Given the description of an element on the screen output the (x, y) to click on. 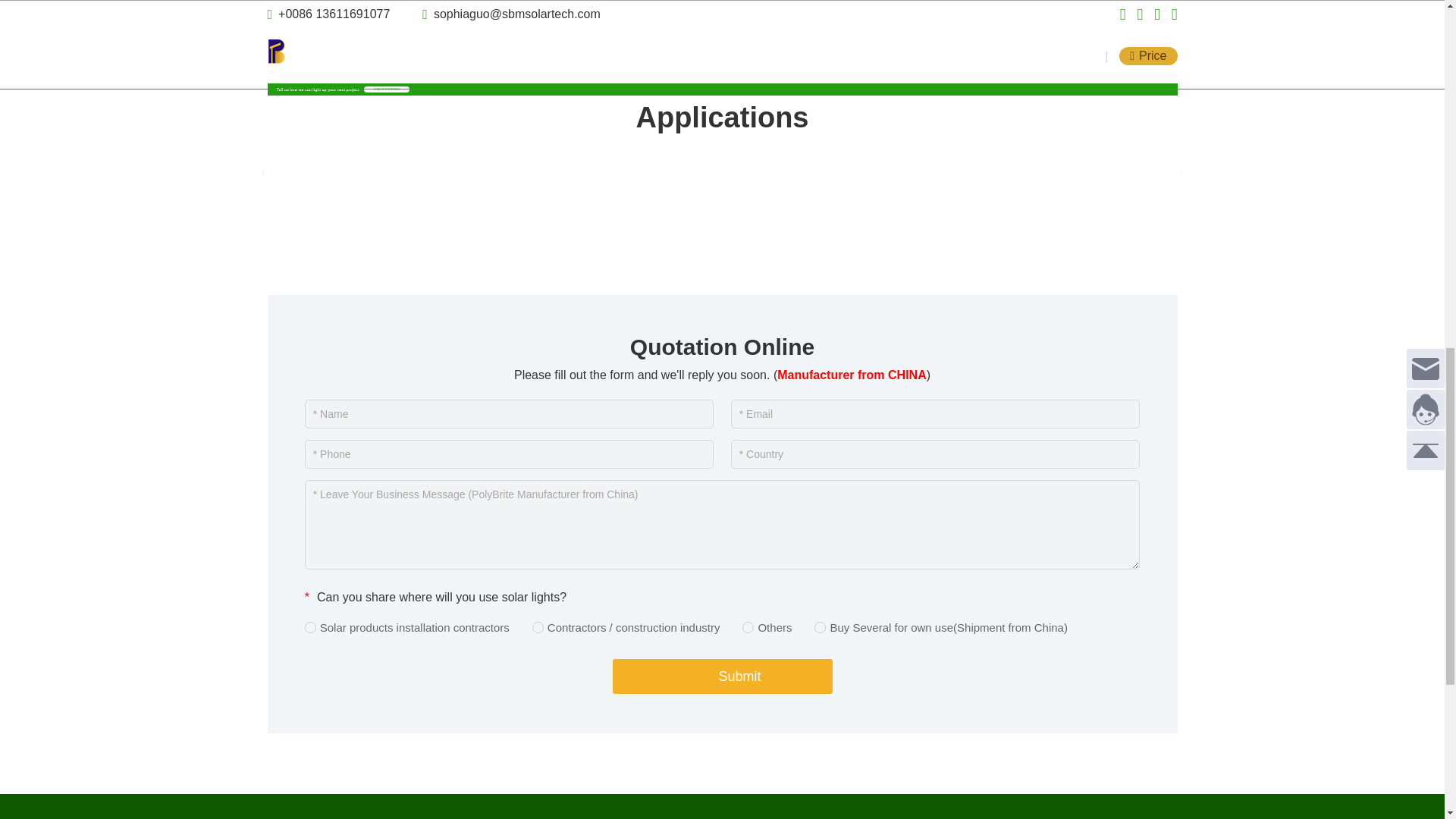
Solar products installation contractors (309, 627)
Others (748, 627)
Just buy several pieces for my own use (819, 627)
